Given the description of an element on the screen output the (x, y) to click on. 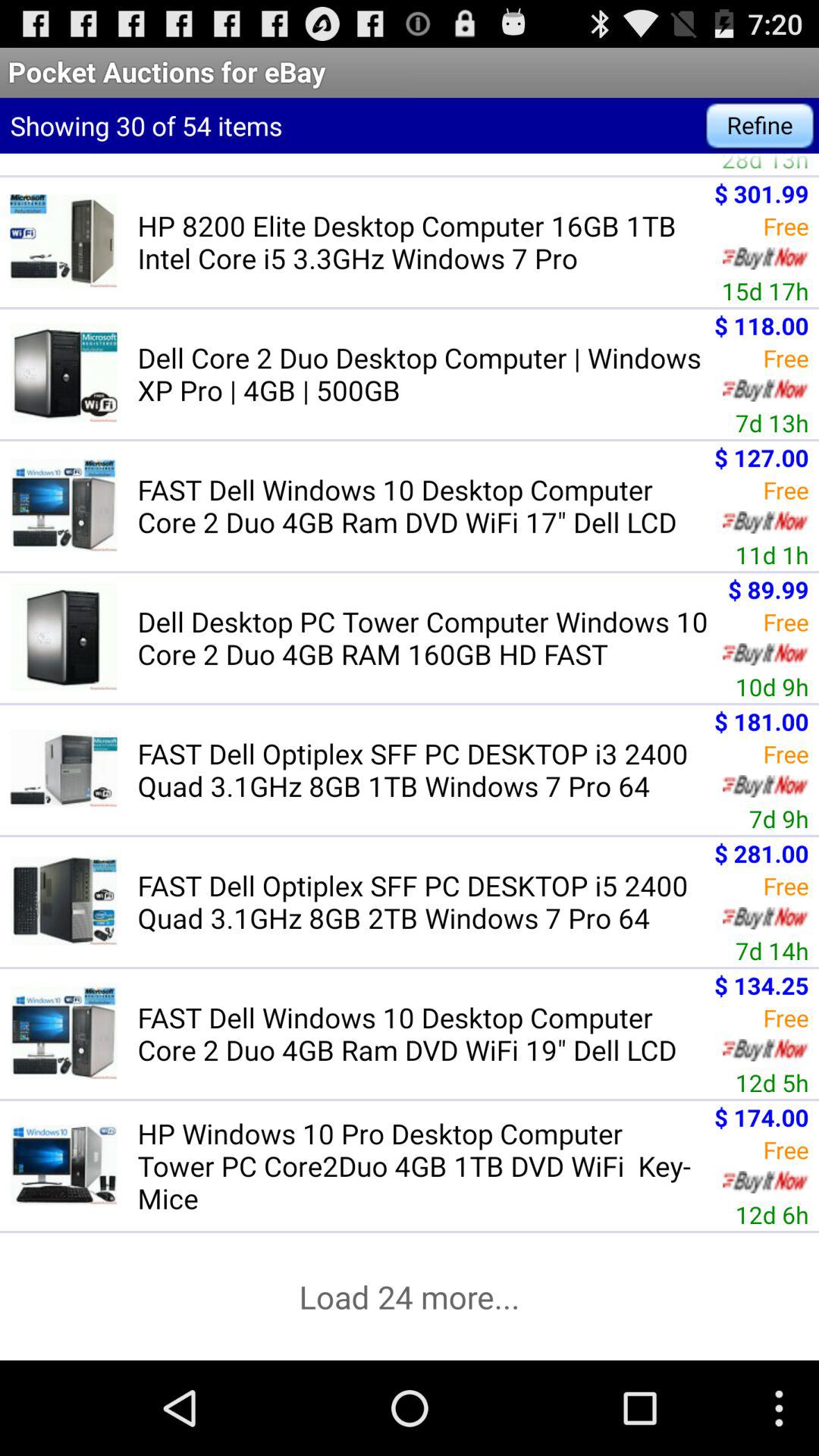
launch icon to the right of fast dell windows item (761, 985)
